Given the description of an element on the screen output the (x, y) to click on. 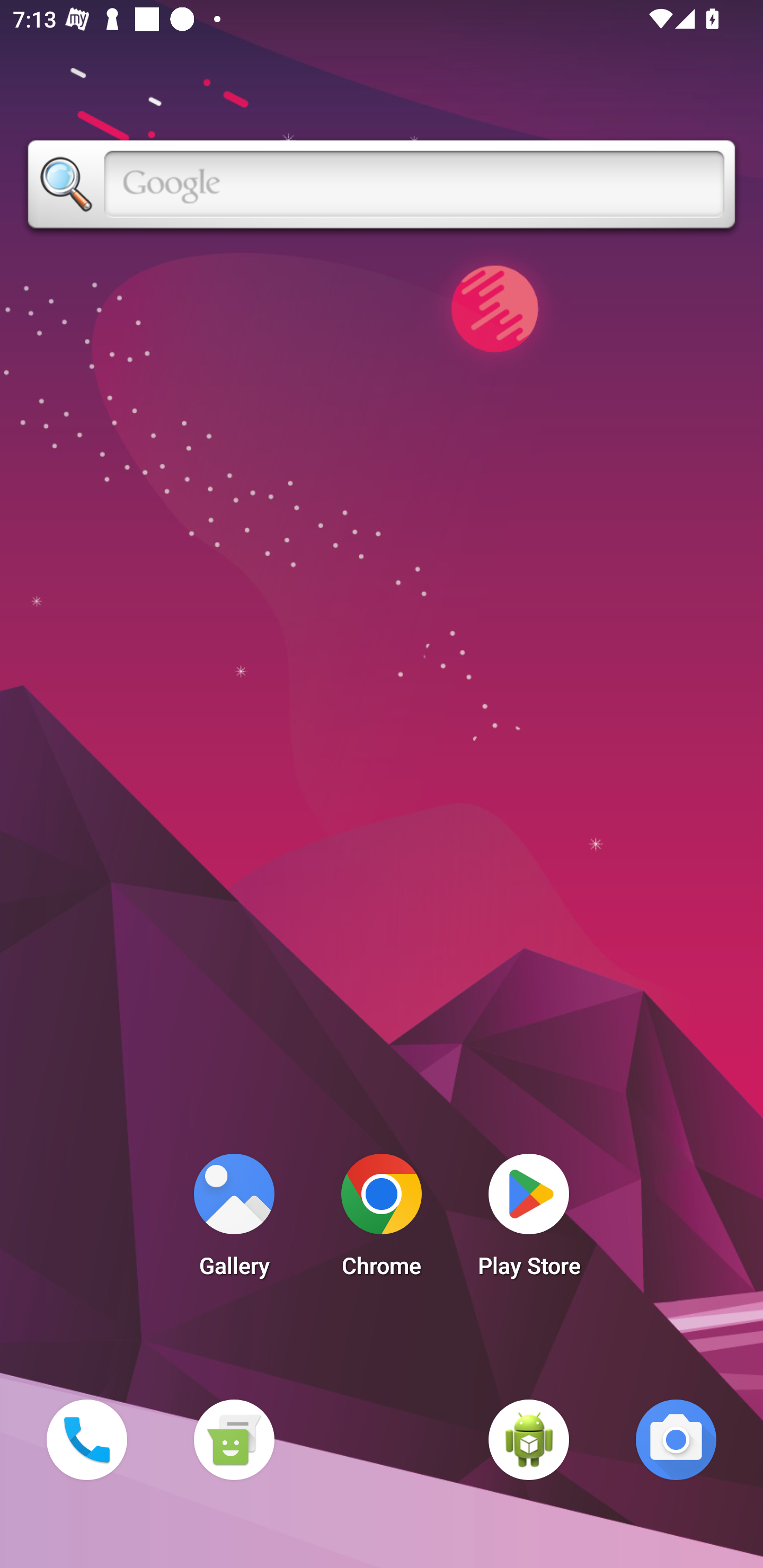
Gallery (233, 1220)
Chrome (381, 1220)
Play Store (528, 1220)
Phone (86, 1439)
Messaging (233, 1439)
WebView Browser Tester (528, 1439)
Camera (676, 1439)
